Given the description of an element on the screen output the (x, y) to click on. 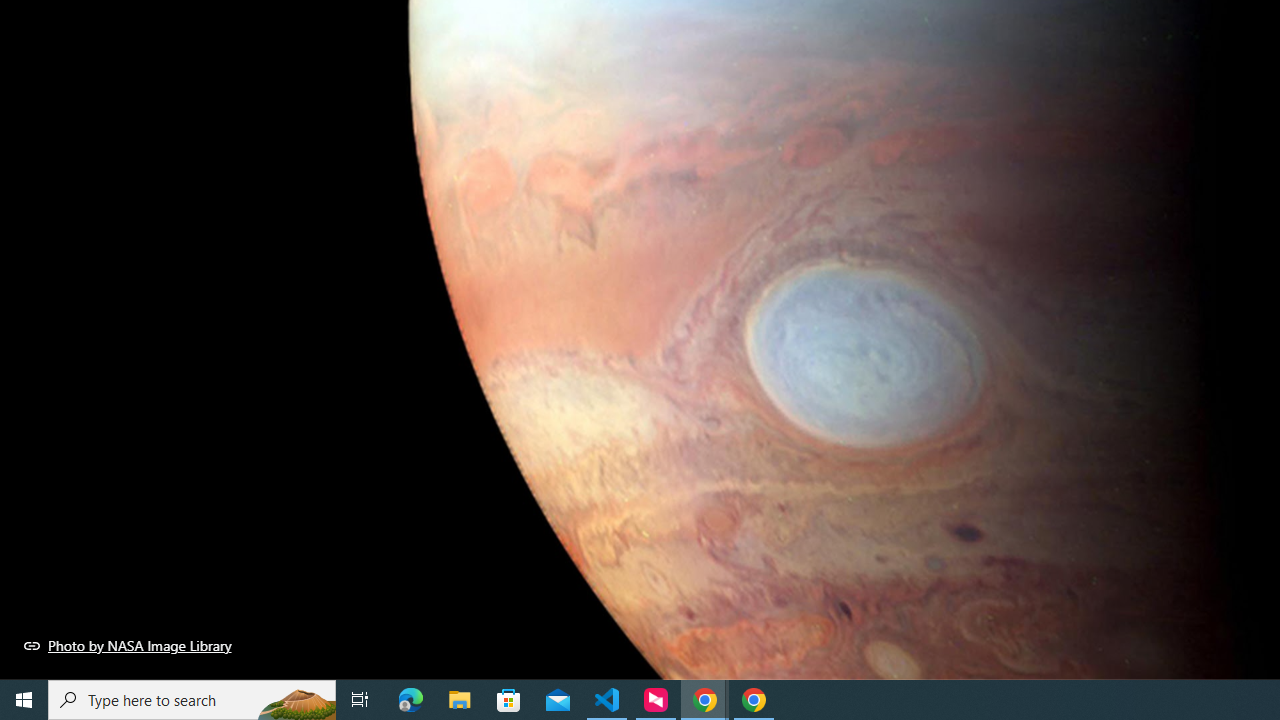
Photo by NASA Image Library (127, 645)
